Given the description of an element on the screen output the (x, y) to click on. 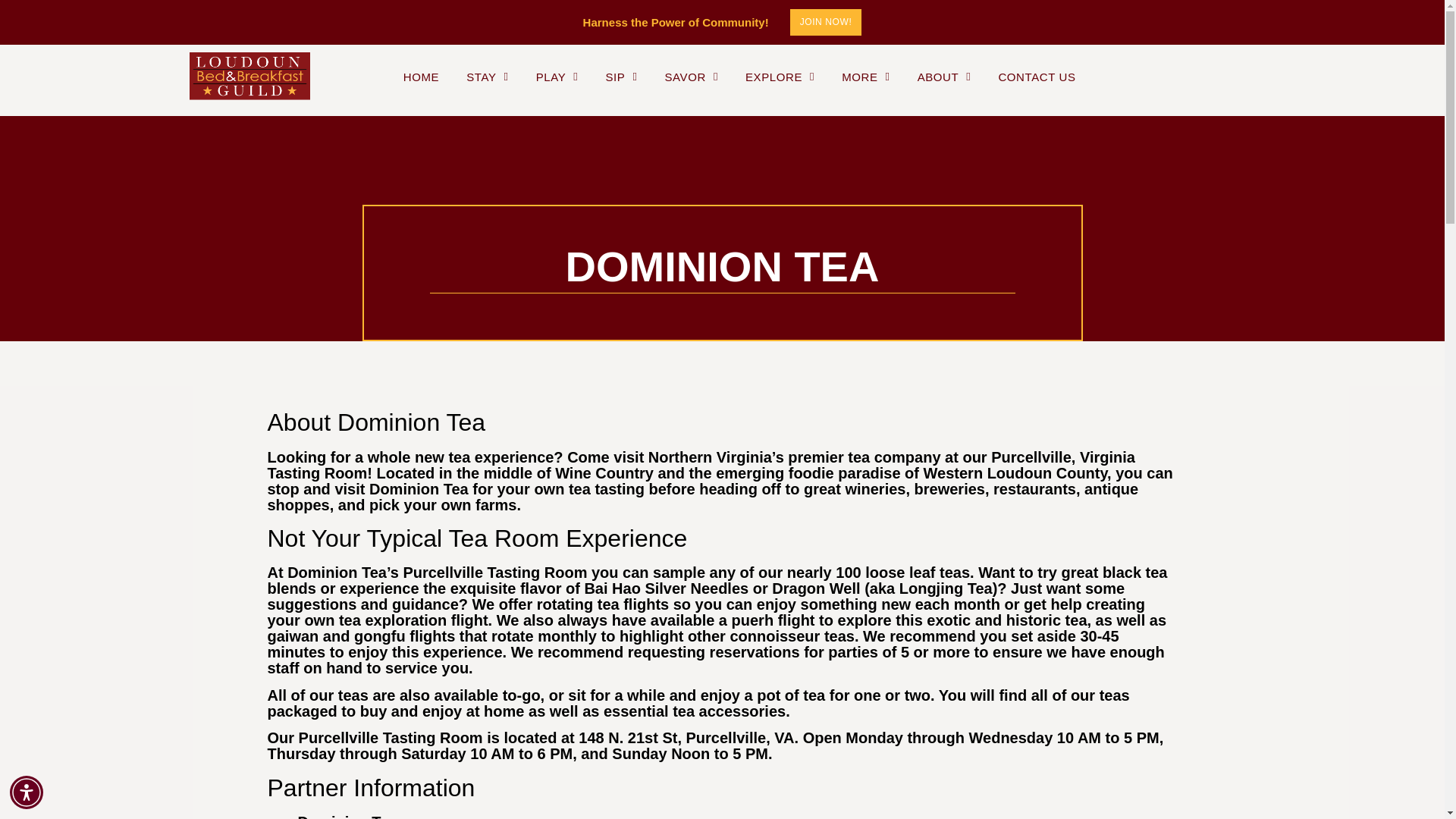
SIP (621, 76)
Accessibility Menu (26, 792)
CONTACT US (1036, 76)
STAY (486, 76)
EXPLORE (779, 76)
PLAY (556, 76)
Harness the Power of Community! (675, 22)
SAVOR (690, 76)
HOME (421, 76)
JOIN NOW! (825, 22)
MORE (865, 76)
ABOUT (944, 76)
